Given the description of an element on the screen output the (x, y) to click on. 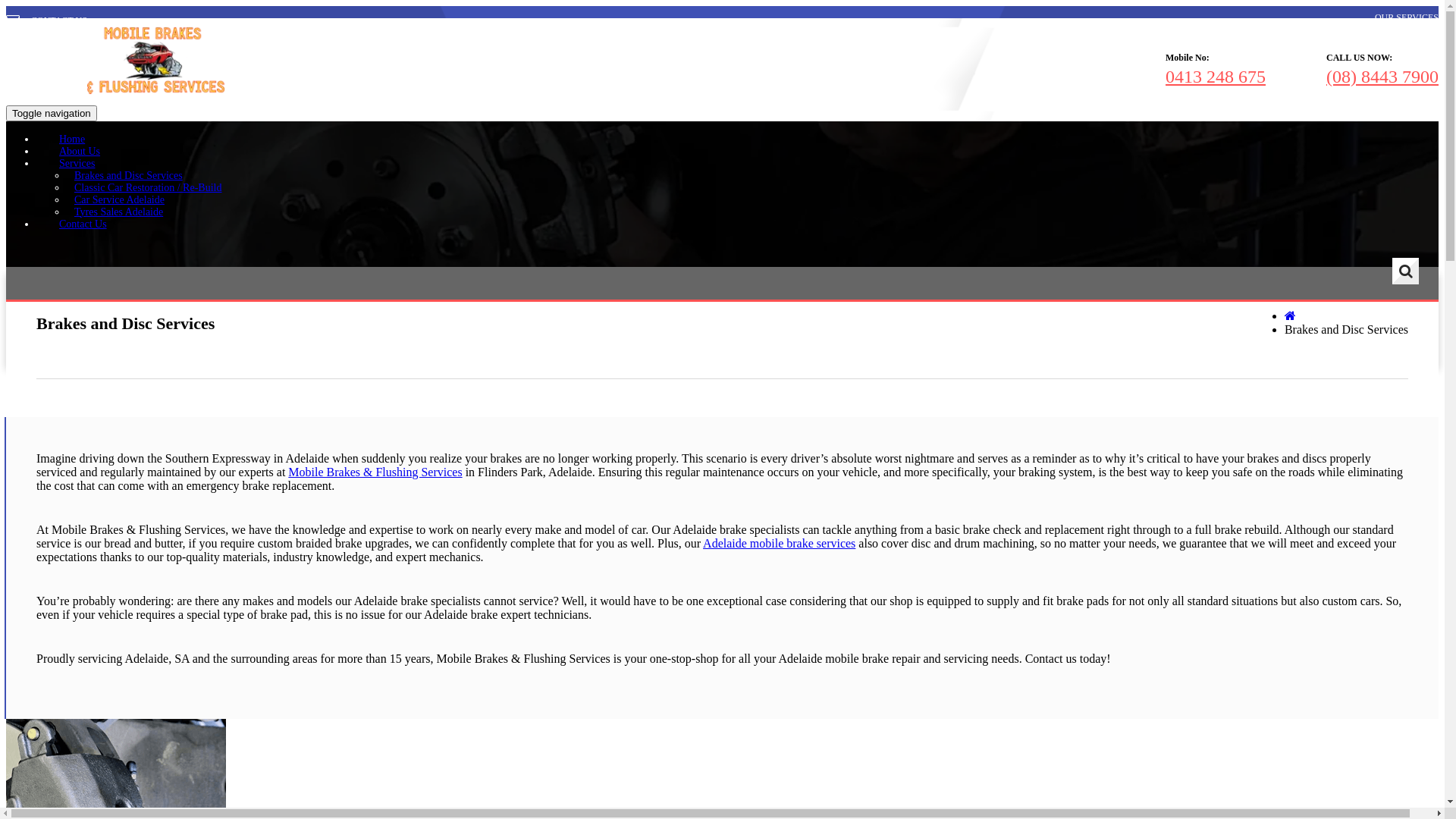
Contact Us Element type: text (82, 223)
CONTACT US Element type: text (46, 20)
Toggle navigation Element type: text (51, 112)
Home Element type: text (71, 138)
(08) 8443 7900 Element type: text (1382, 76)
Adelaide mobile brake services Element type: text (778, 542)
Tyres Sales Adelaide Element type: text (118, 211)
Mobile Brakes and Flushing Services Element type: hover (155, 91)
0413 248 675 Element type: text (1215, 76)
Services Element type: text (76, 162)
Classic Car Restoration / Re-Build Element type: text (147, 187)
About Us Element type: text (79, 150)
Car Service Adelaide Element type: text (119, 199)
OUR SERVICES Element type: text (1406, 17)
Brakes and Disc Services Element type: text (128, 175)
Mobile Brakes & Flushing Services Element type: text (374, 471)
